Given the description of an element on the screen output the (x, y) to click on. 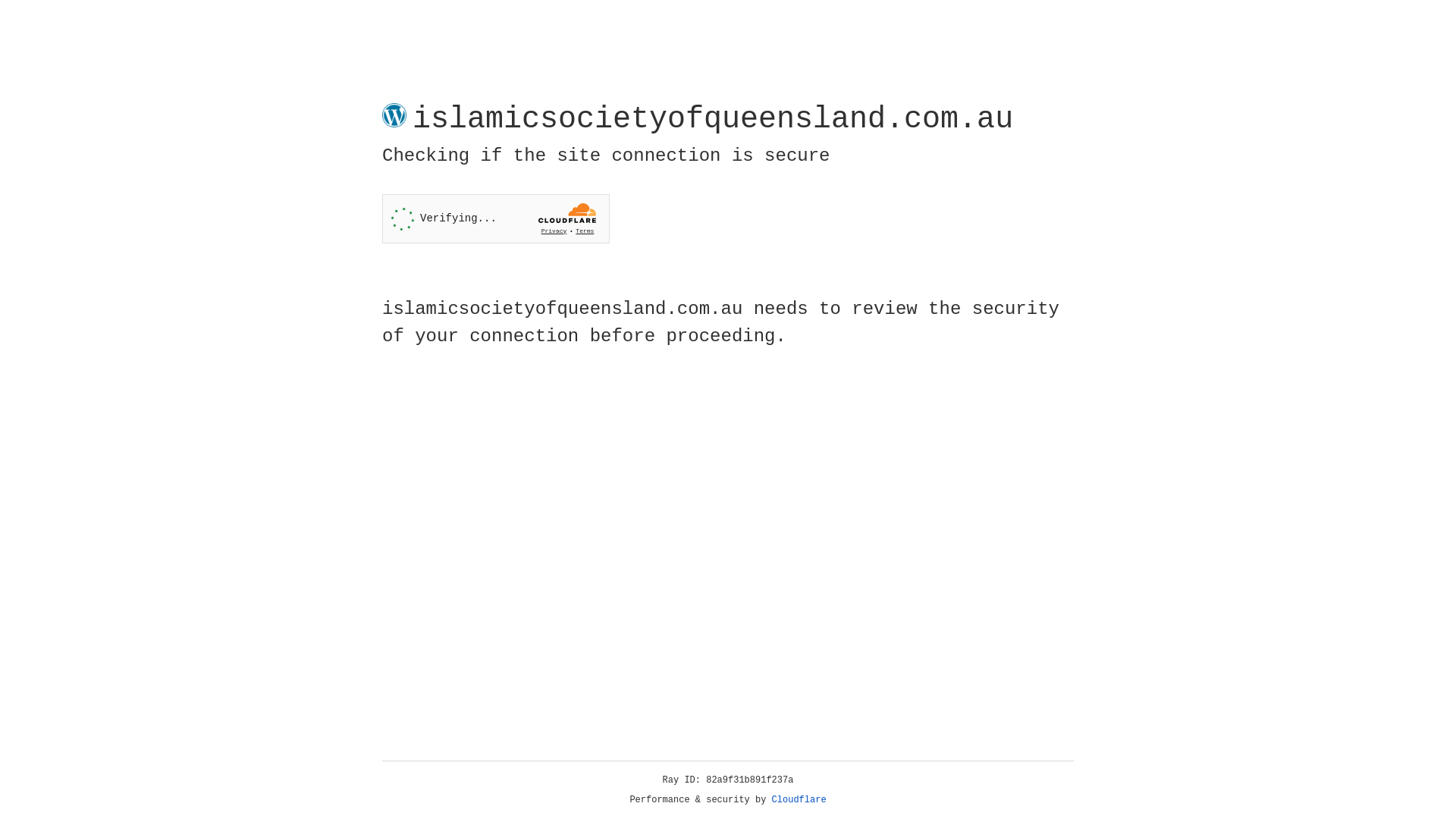
Widget containing a Cloudflare security challenge Element type: hover (495, 218)
Cloudflare Element type: text (798, 799)
